Given the description of an element on the screen output the (x, y) to click on. 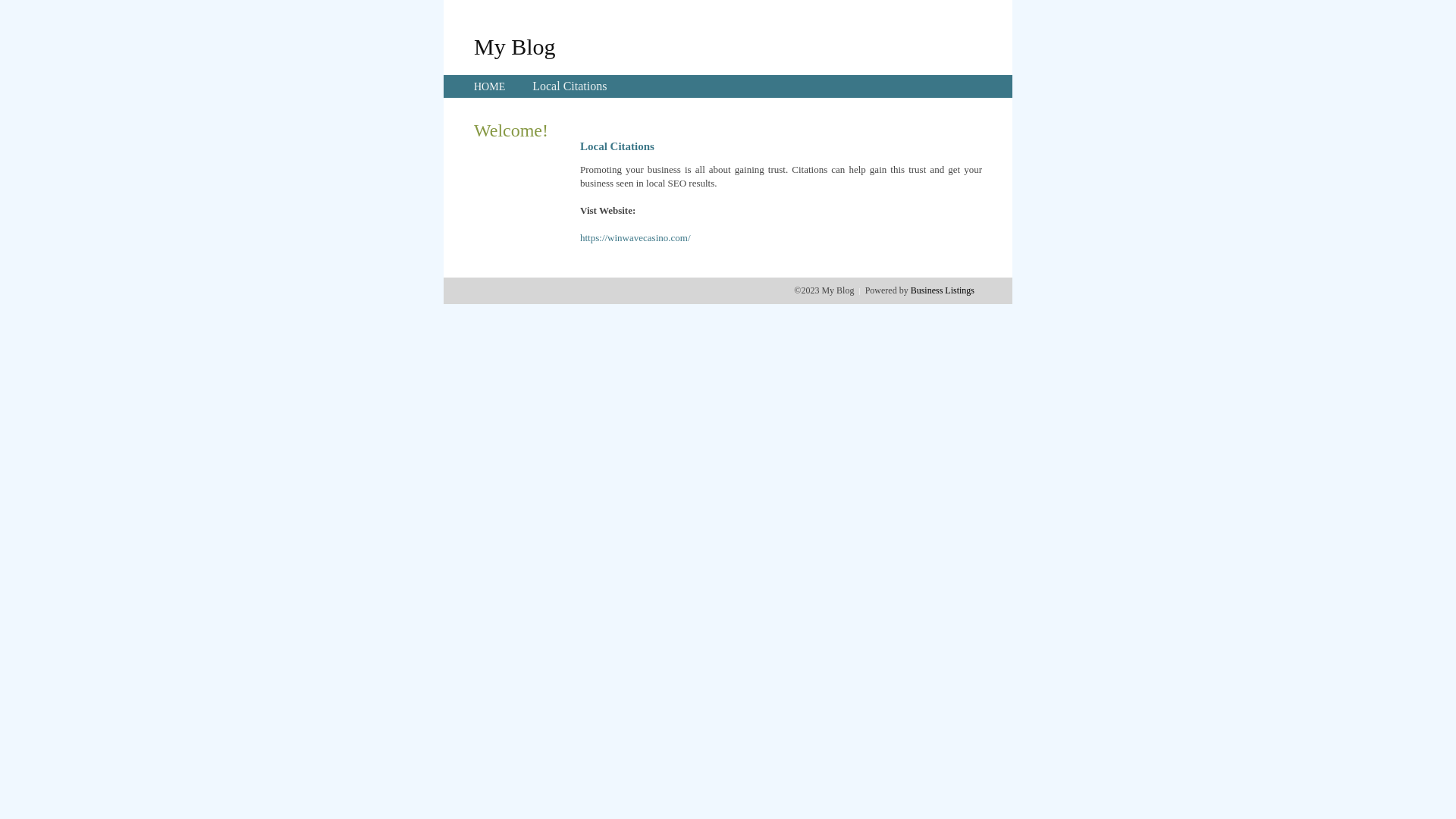
HOME Element type: text (489, 86)
Local Citations Element type: text (569, 85)
My Blog Element type: text (514, 46)
Business Listings Element type: text (942, 290)
https://winwavecasino.com/ Element type: text (635, 237)
